Given the description of an element on the screen output the (x, y) to click on. 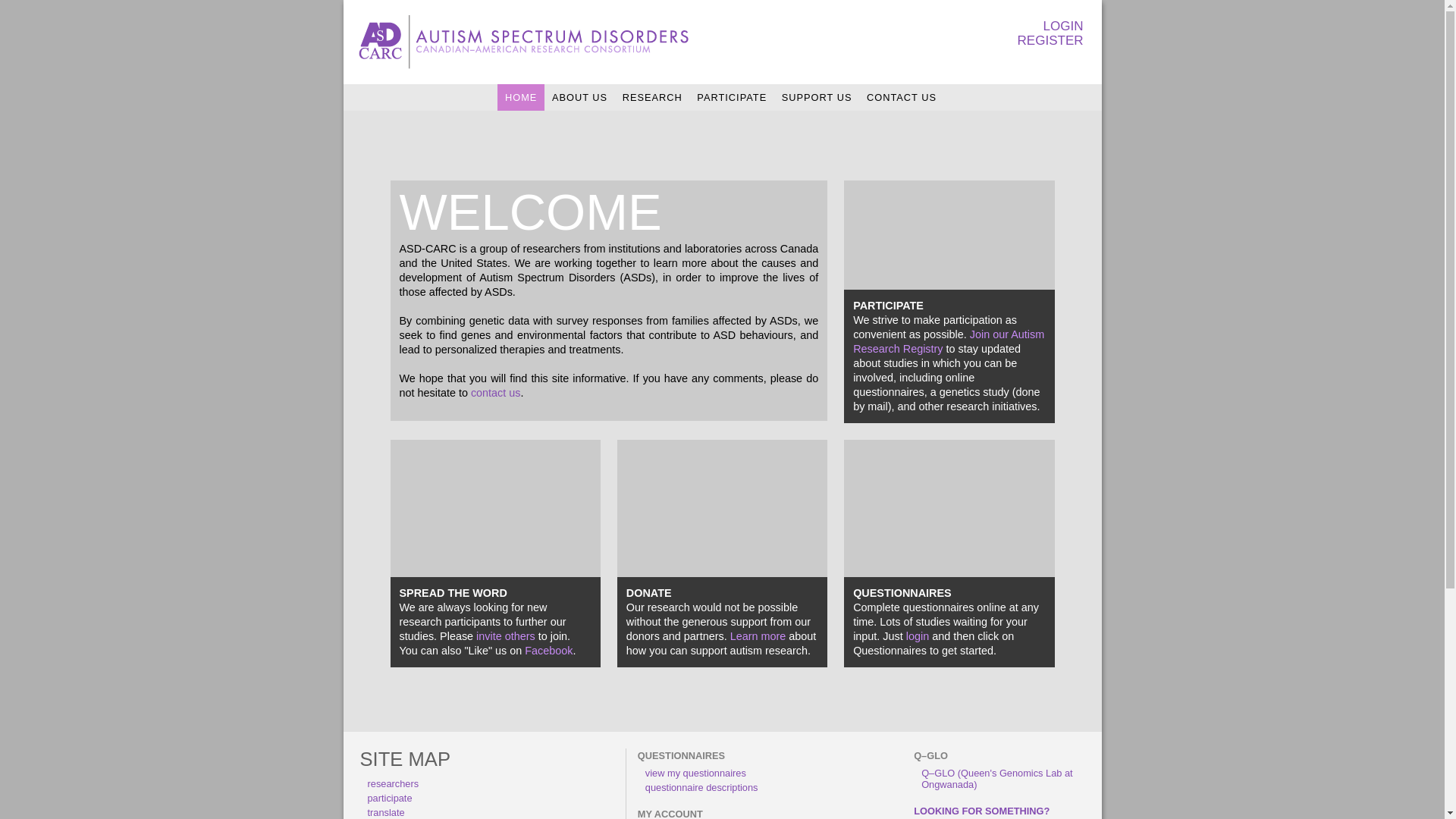
Learn more Element type: text (758, 636)
login Element type: text (917, 636)
researchers Element type: text (392, 783)
view my questionnaires Element type: text (695, 772)
Facebook Element type: text (548, 650)
REGISTER Element type: text (1051, 40)
contact us Element type: text (495, 392)
questionnaire descriptions Element type: text (701, 787)
LOGIN Element type: text (1051, 25)
CONTACT US Element type: text (901, 97)
ABOUT US Element type: text (579, 97)
HOME Element type: text (520, 97)
PARTICIPATE Element type: text (731, 97)
invite others Element type: text (505, 636)
RESEARCH Element type: text (652, 97)
Join our Autism Research Registry Element type: text (948, 341)
SUPPORT US Element type: text (816, 97)
translate Element type: text (385, 812)
participate Element type: text (389, 797)
